Given the description of an element on the screen output the (x, y) to click on. 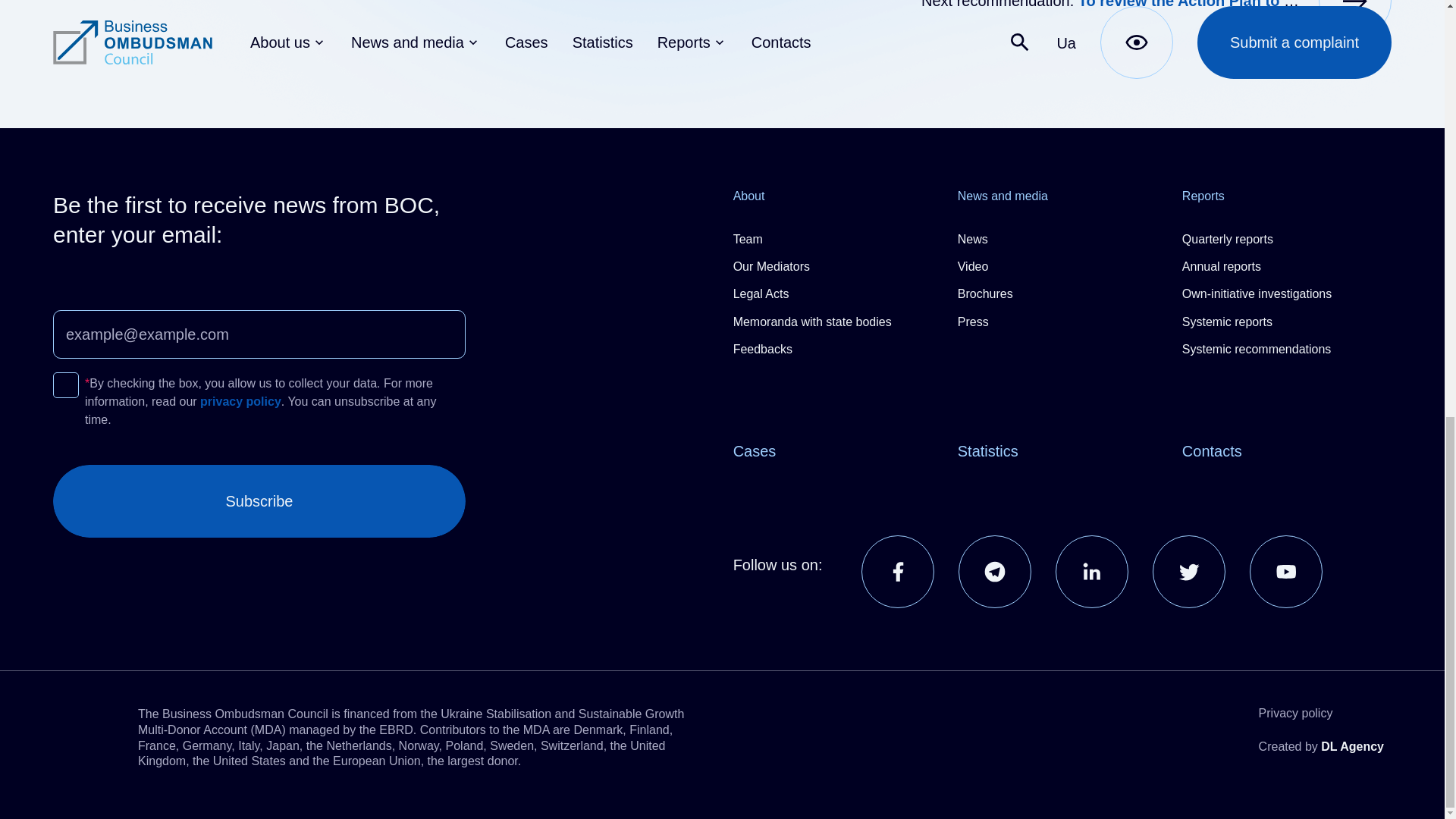
Subscribe (258, 501)
